Given the description of an element on the screen output the (x, y) to click on. 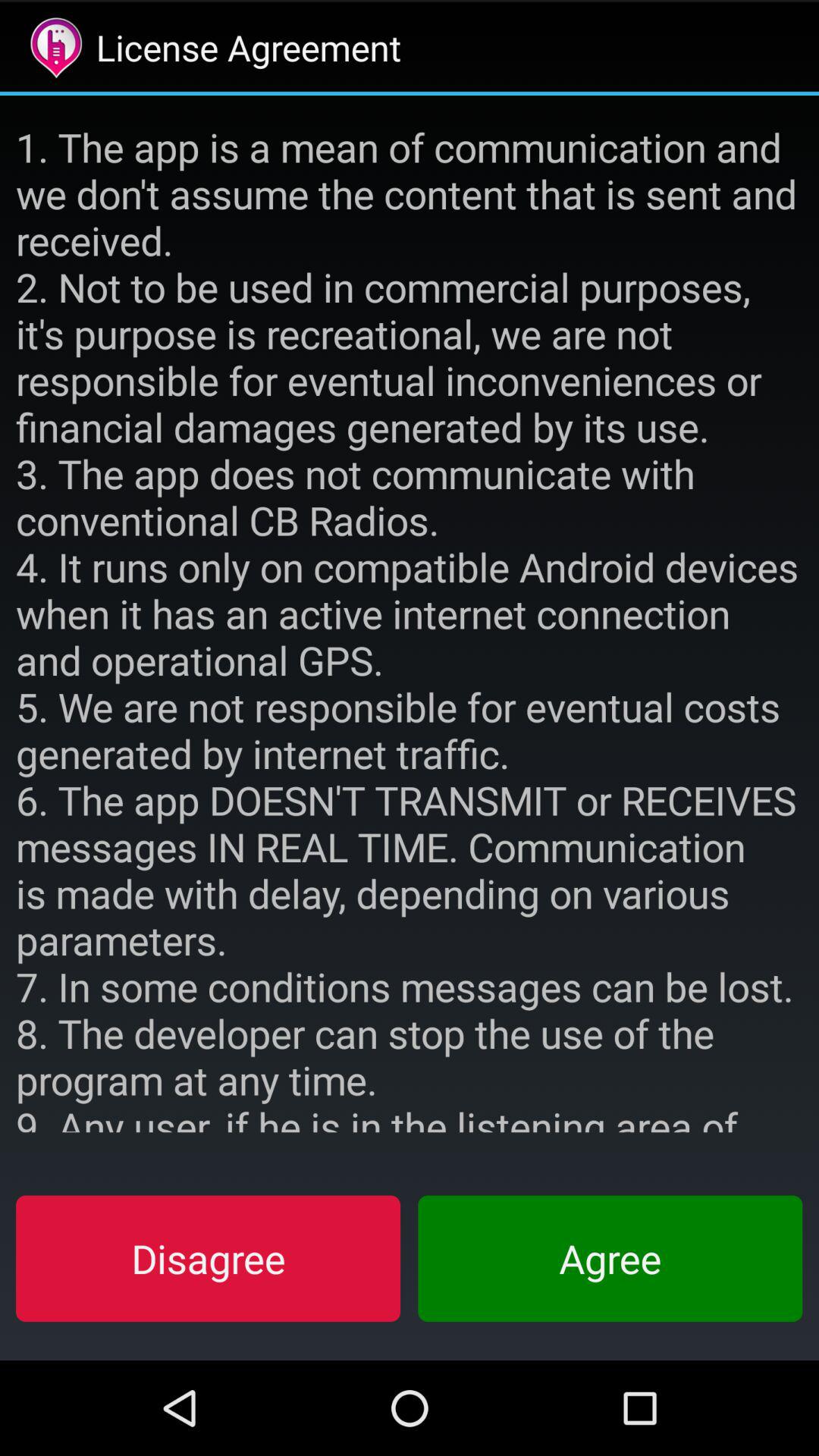
click the disagree (207, 1258)
